Given the description of an element on the screen output the (x, y) to click on. 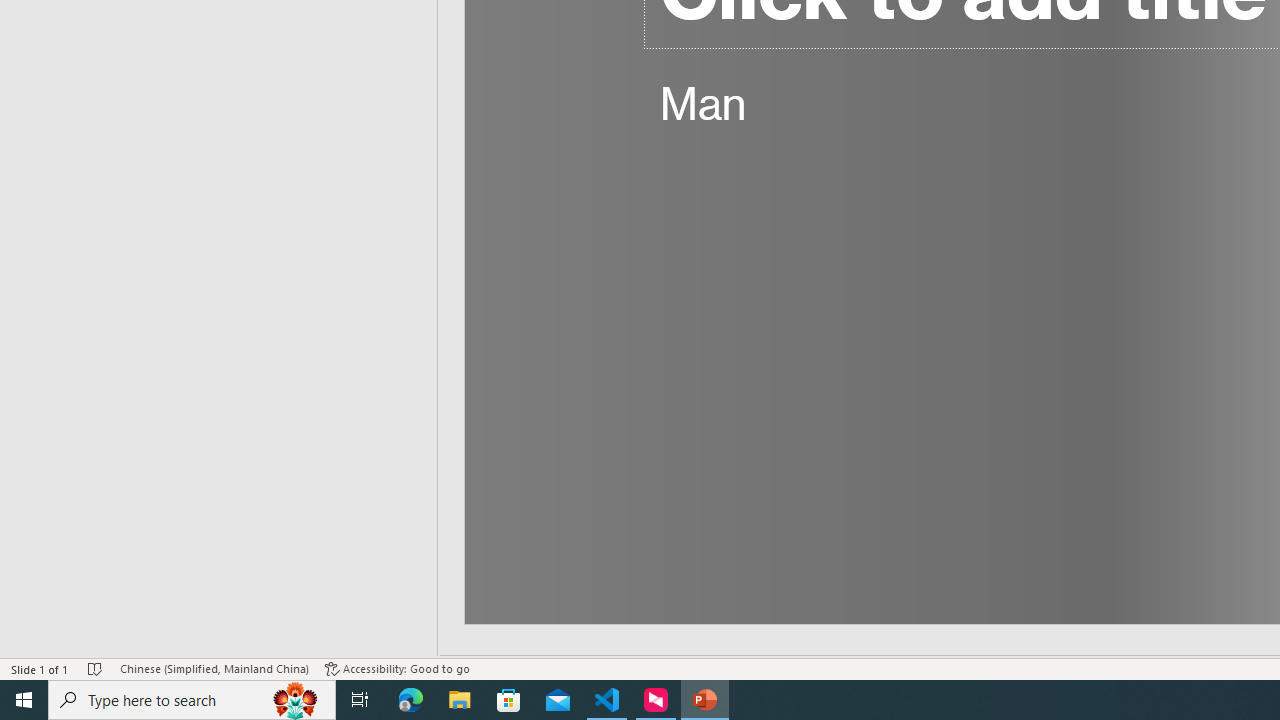
Accessibility Checker Accessibility: Good to go (397, 668)
Spell Check No Errors (95, 668)
